Given the description of an element on the screen output the (x, y) to click on. 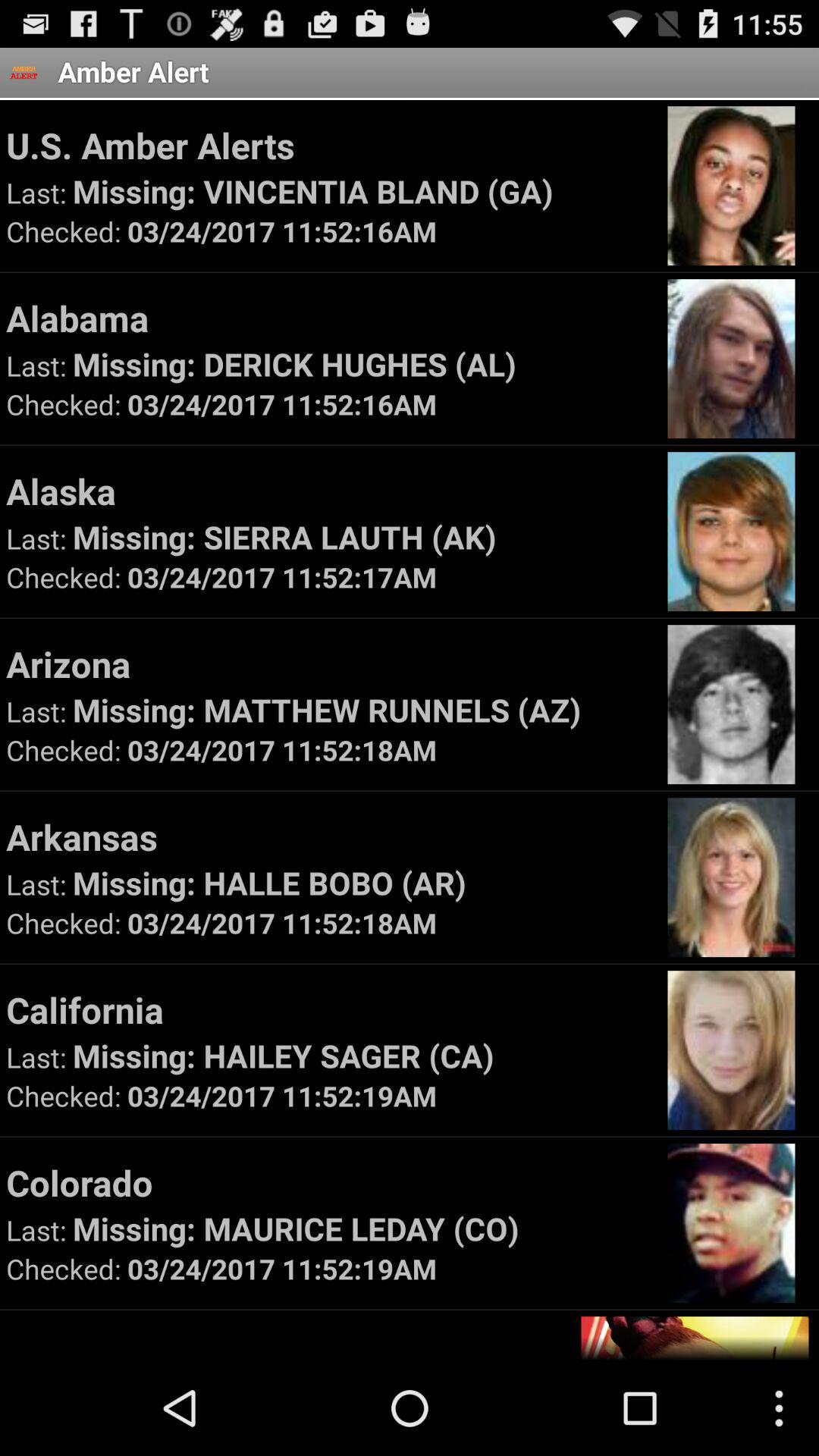
launch the alabama (329, 318)
